Given the description of an element on the screen output the (x, y) to click on. 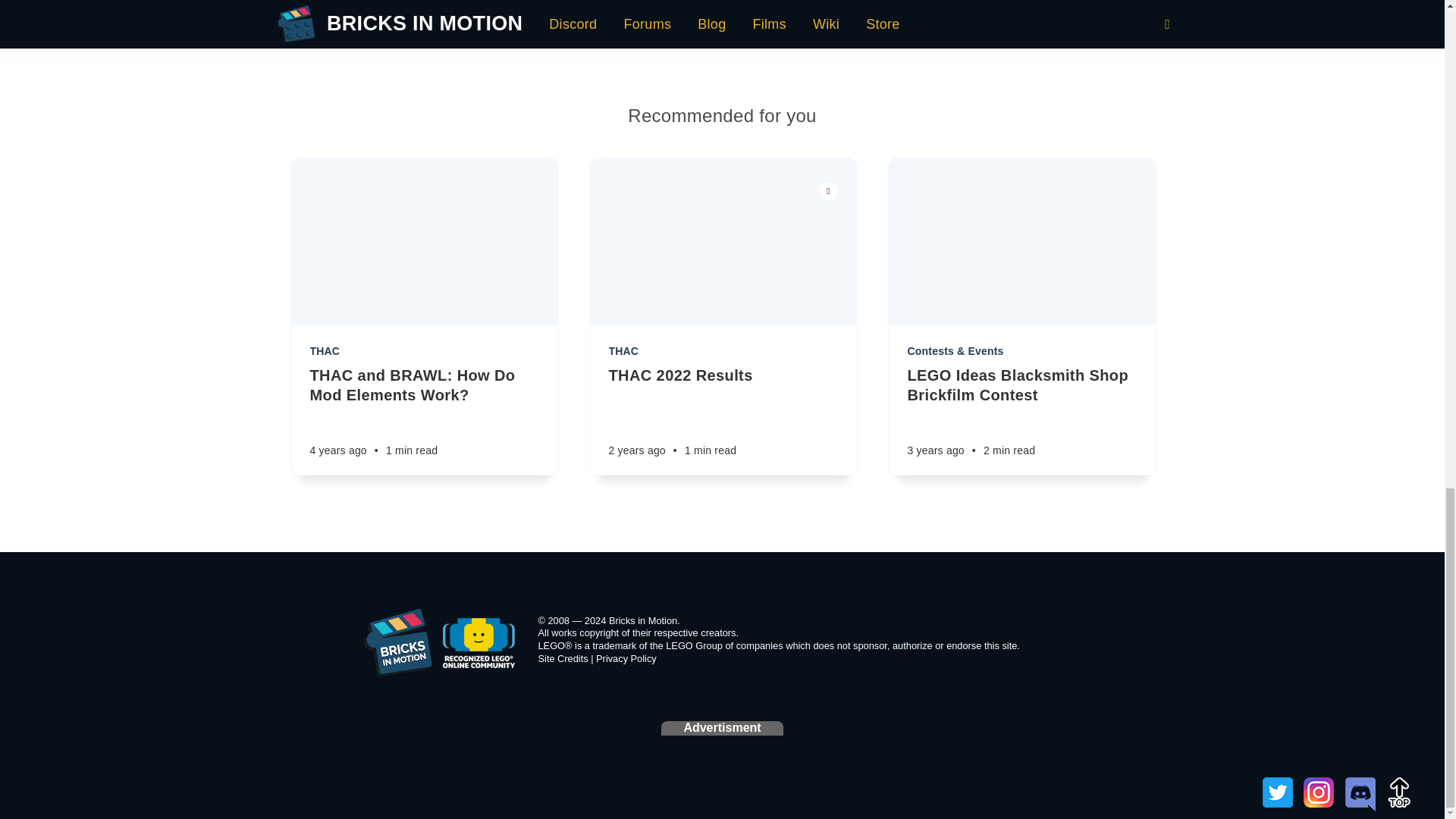
THAC 2022 Results (722, 374)
THAC and BRAWL: How Do Mod Elements Work? (423, 384)
LEGO Ideas Blacksmith Shop Brickfilm Contest (1021, 384)
